Given the description of an element on the screen output the (x, y) to click on. 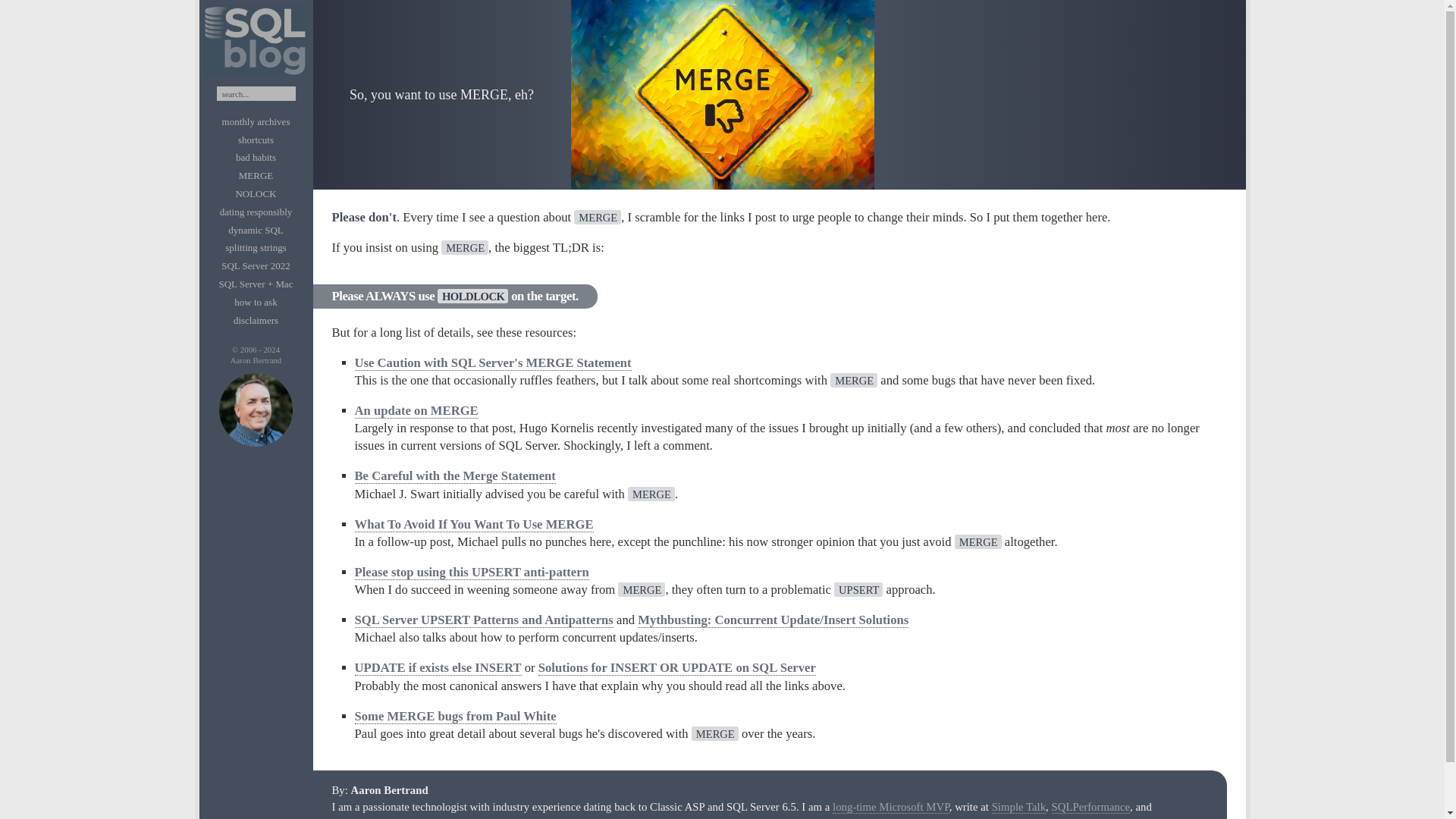
Be Careful with the Merge Statement (455, 476)
Solutions for INSERT OR UPDATE on SQL Server (676, 667)
Still not a fan of MERGE, and here's why. (255, 175)
Some MERGE bugs from Paul White (455, 716)
SQL Server UPSERT Patterns and Antipatterns (483, 620)
Skip to content (255, 20)
NOLOCK (255, 193)
shortcuts (255, 139)
SQLBlog.org home (255, 76)
